Given the description of an element on the screen output the (x, y) to click on. 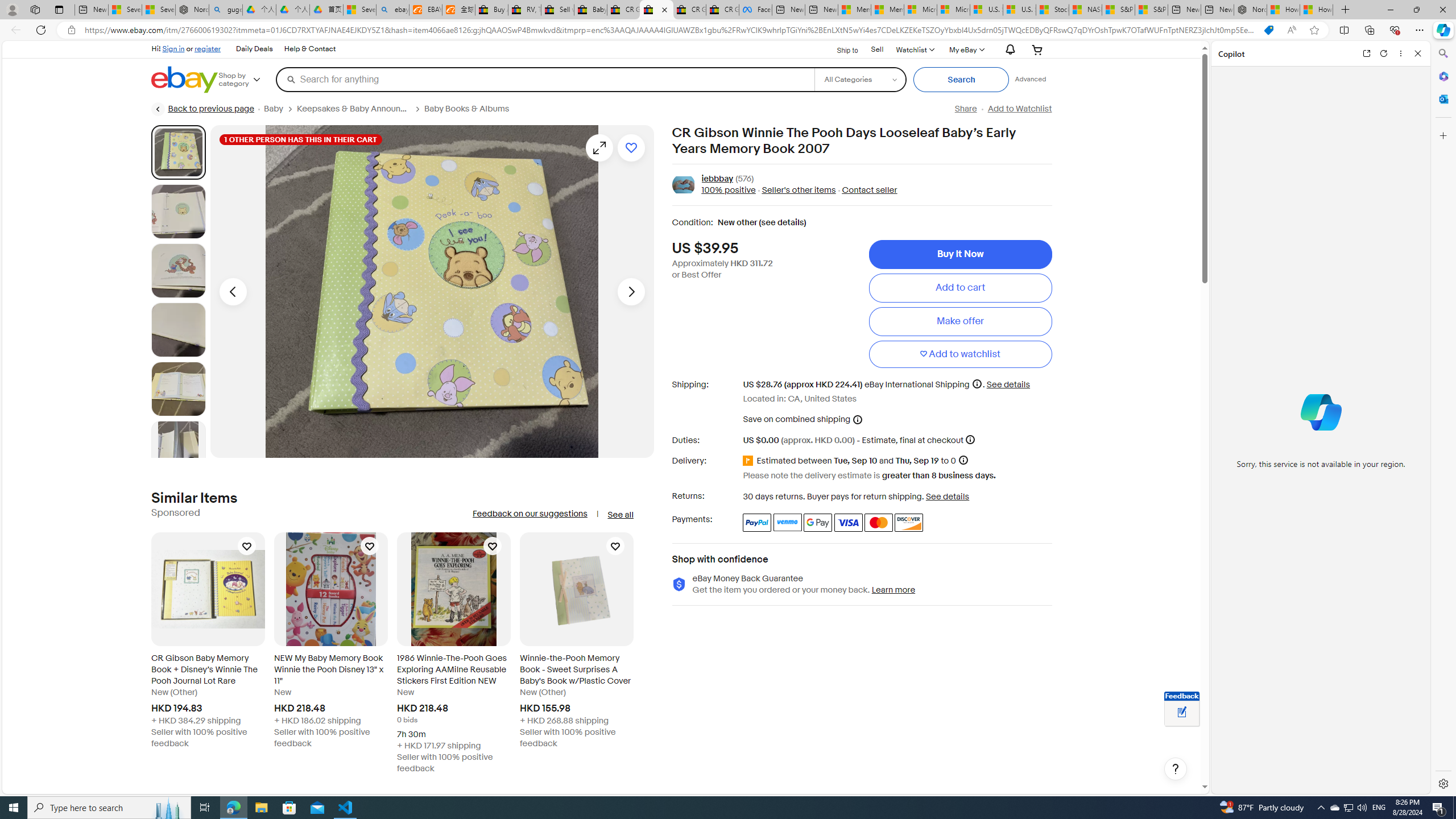
Help & Contact (309, 49)
Back to previous page (202, 109)
Picture 5 of 22 (178, 388)
Make offer (959, 320)
  Contact seller (865, 190)
S&P 500, Nasdaq end lower, weighed by Nvidia dip | Watch (1150, 9)
Add to Watchlist (1019, 108)
Help, opens dialogs (1175, 768)
Next image - Item images thumbnails (631, 291)
